Given the description of an element on the screen output the (x, y) to click on. 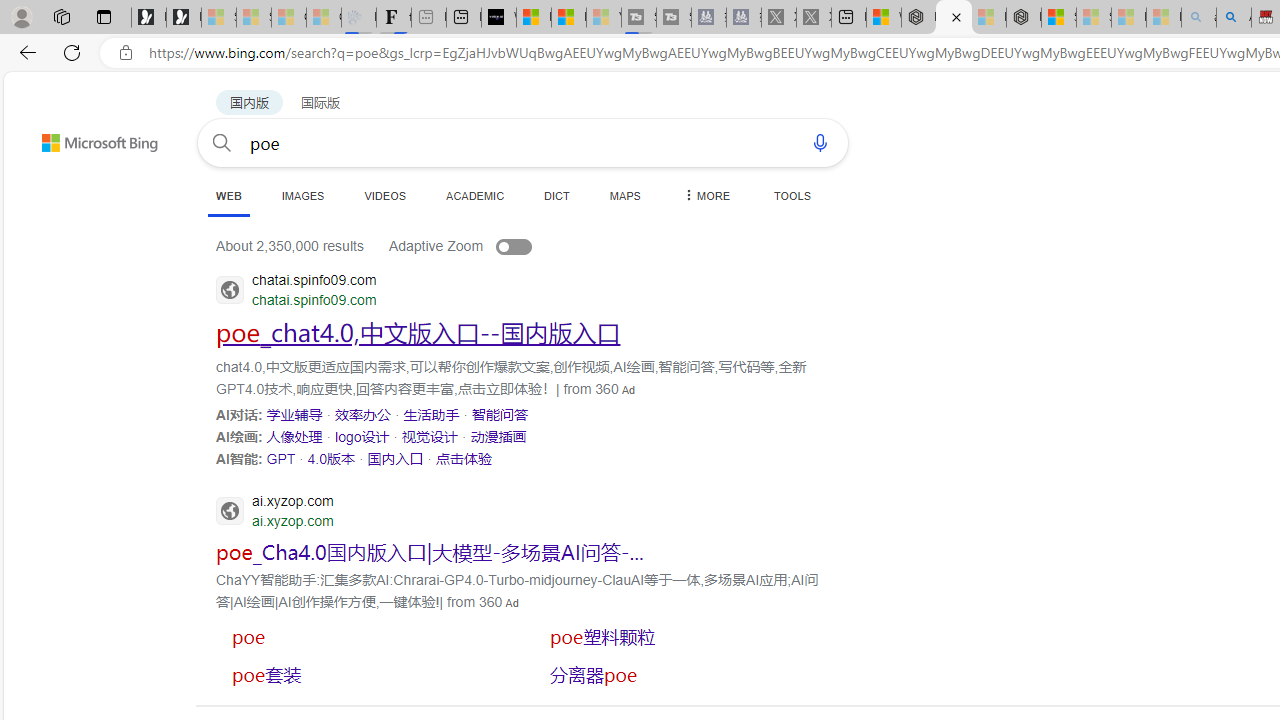
TOOLS (792, 195)
View site information (125, 53)
X - Sleeping (813, 17)
Nordace - Nordace Siena Is Not An Ordinary Backpack (1023, 17)
Newsletter Sign Up (183, 17)
SERP,5583 (365, 674)
SERP,5579 (429, 552)
IMAGES (302, 195)
SERP,5560 (418, 331)
SERP,5572 (395, 458)
Microsoft Start (568, 17)
Skip to content (63, 133)
VIDEOS (384, 195)
